Given the description of an element on the screen output the (x, y) to click on. 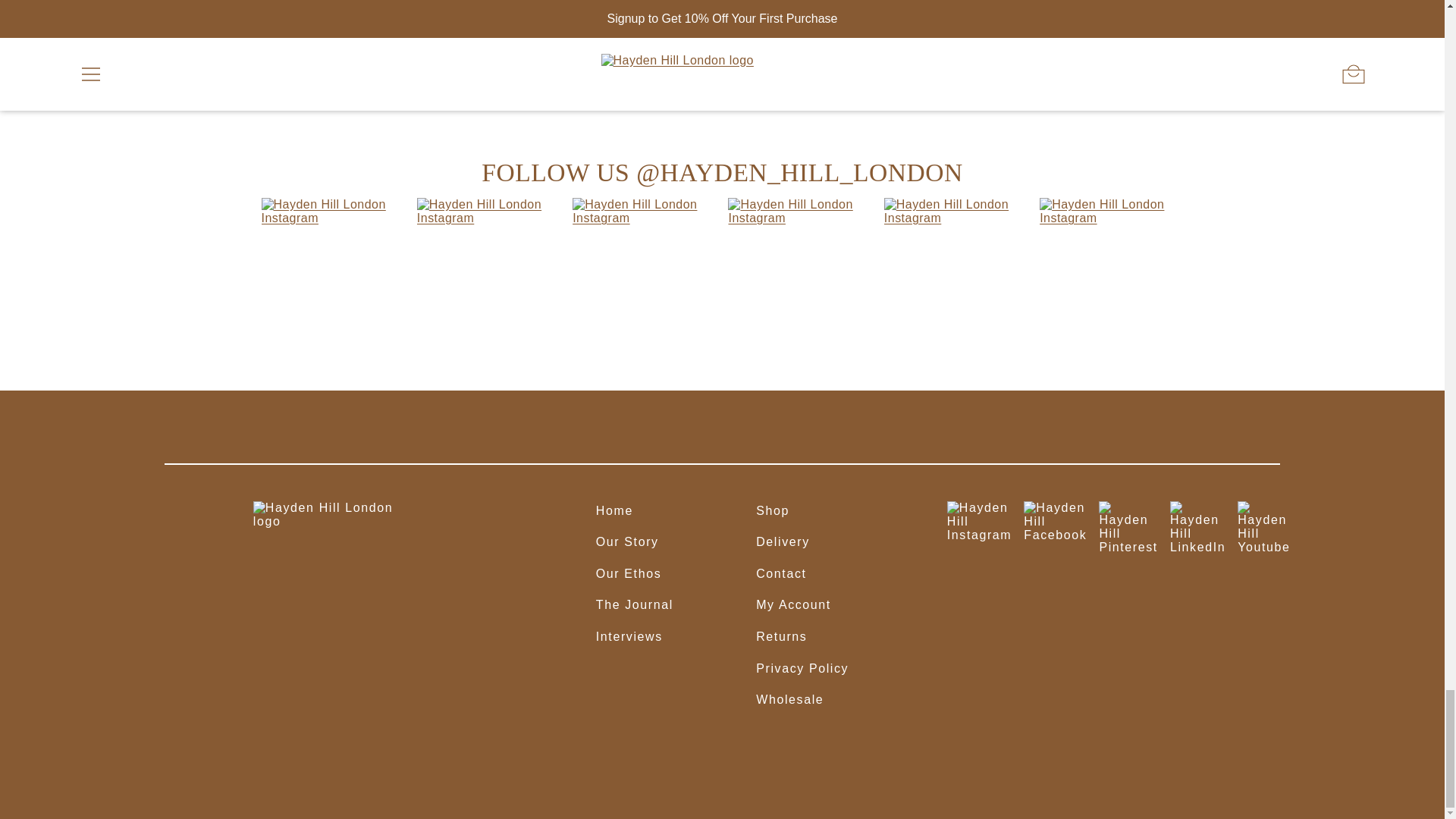
closet organisation (493, 91)
Show articles tagged closet organisation (493, 91)
interview (587, 91)
sustainability (663, 91)
Show articles tagged interview (587, 91)
Show articles tagged sustainability (663, 91)
